Given the description of an element on the screen output the (x, y) to click on. 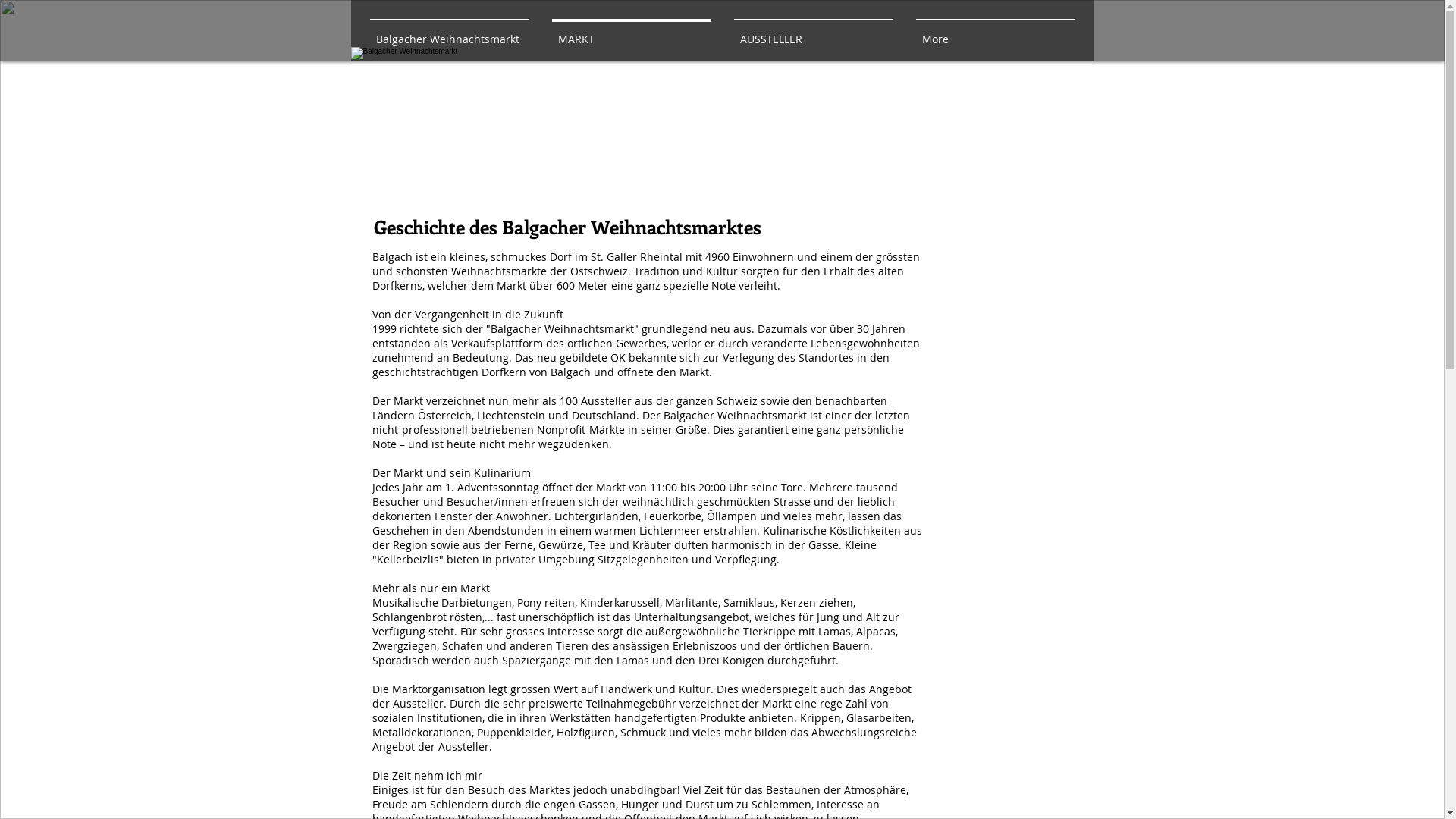
AUSSTELLER Element type: text (812, 31)
MARKT Element type: text (630, 31)
Balgacher Weihnachtsmarkt Element type: text (448, 31)
headerbild-2.jpg Element type: hover (721, 124)
